Given the description of an element on the screen output the (x, y) to click on. 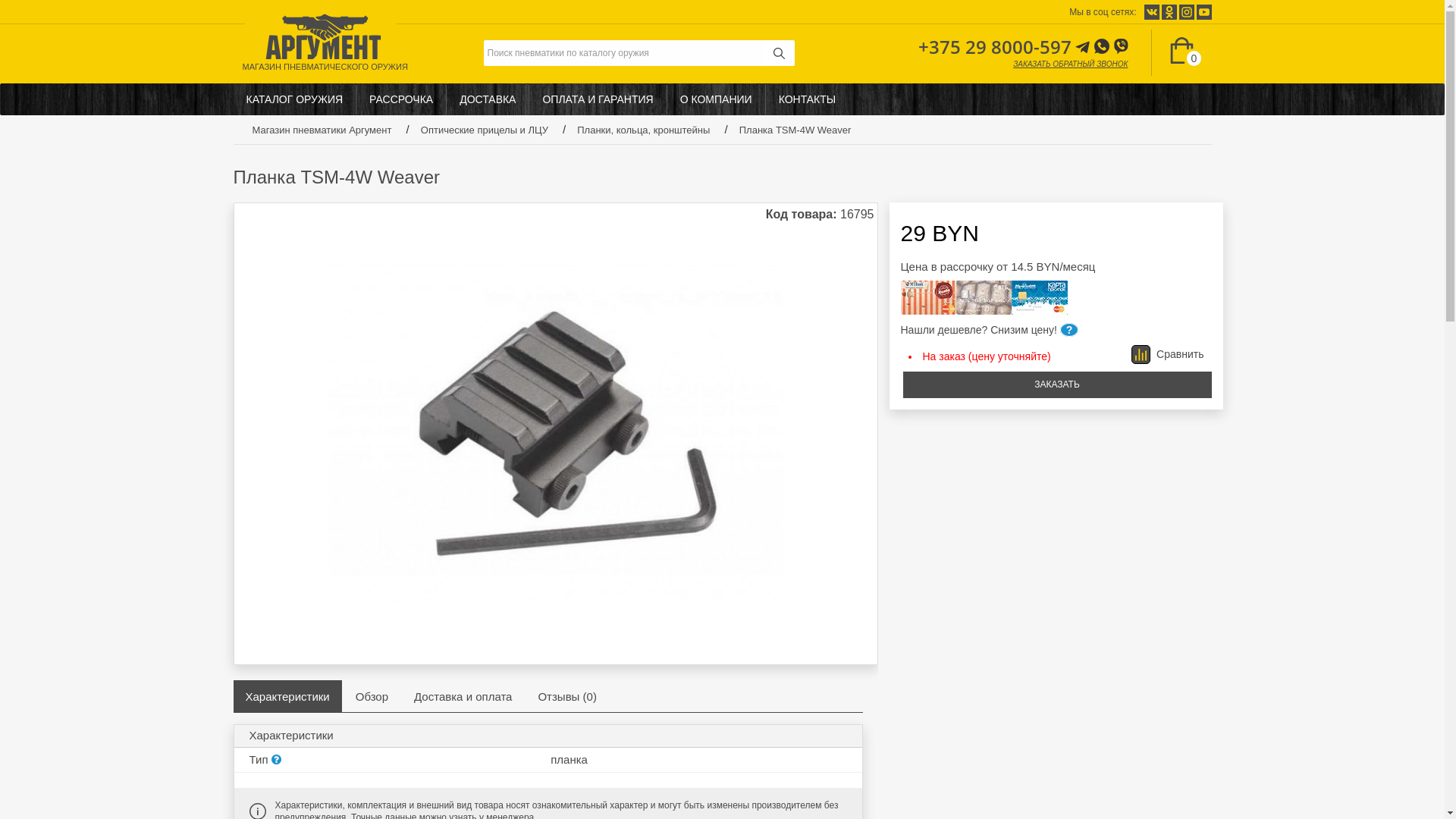
0 Element type: text (1181, 52)
+375 29 8000-597 Element type: text (994, 46)
